Given the description of an element on the screen output the (x, y) to click on. 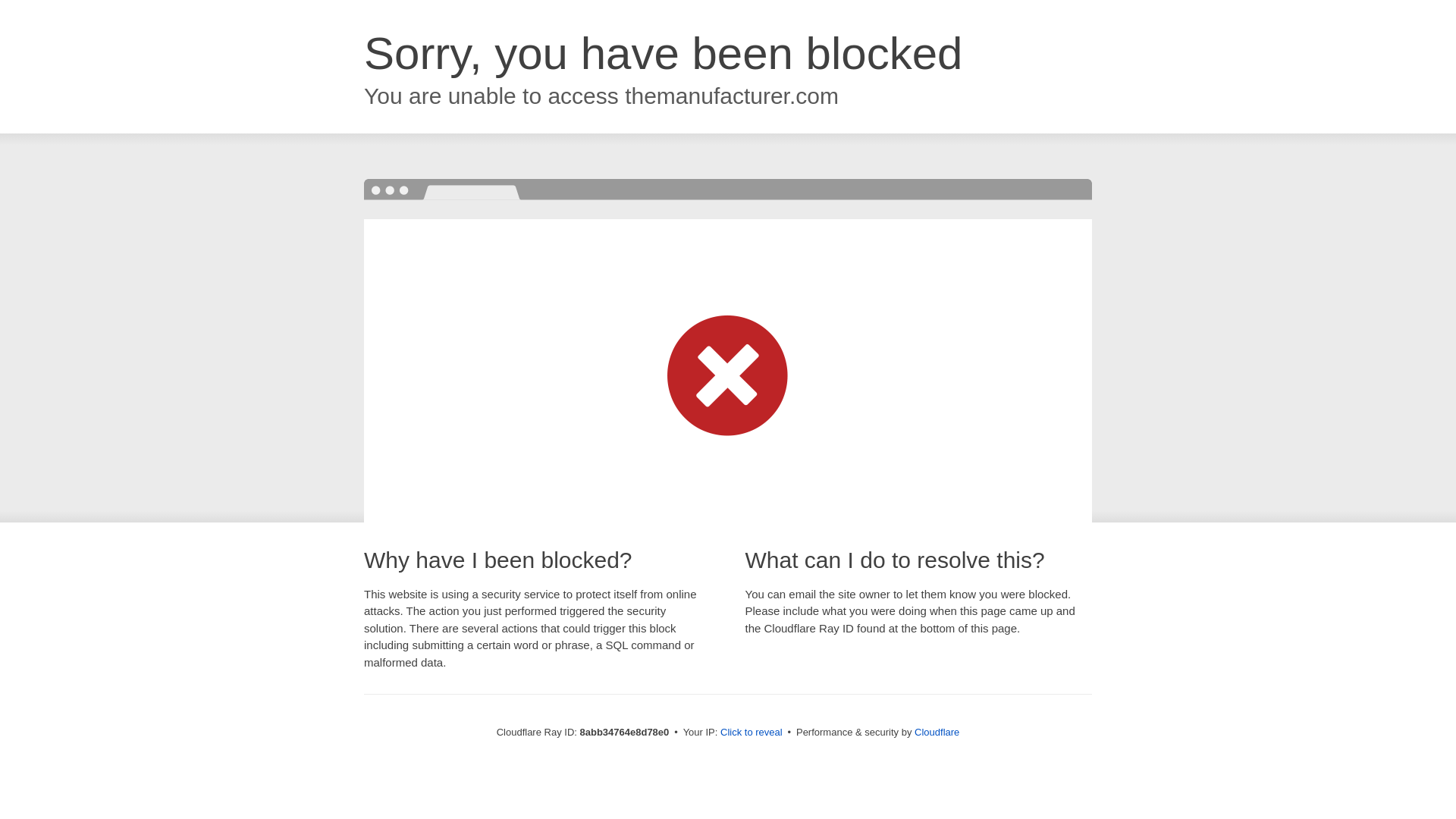
Cloudflare (936, 731)
Click to reveal (751, 732)
